Given the description of an element on the screen output the (x, y) to click on. 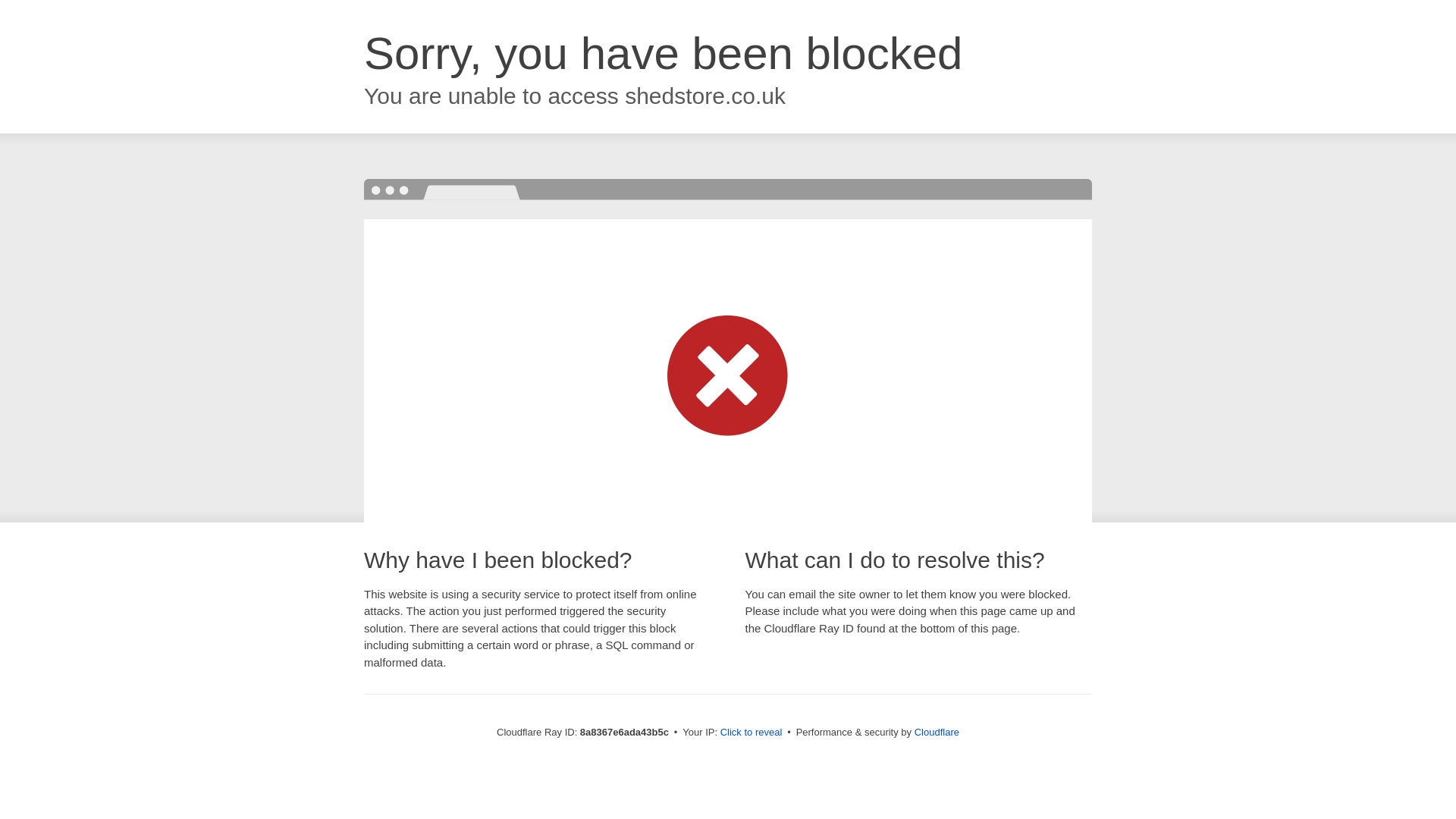
Cloudflare (936, 731)
Click to reveal (751, 732)
